Given the description of an element on the screen output the (x, y) to click on. 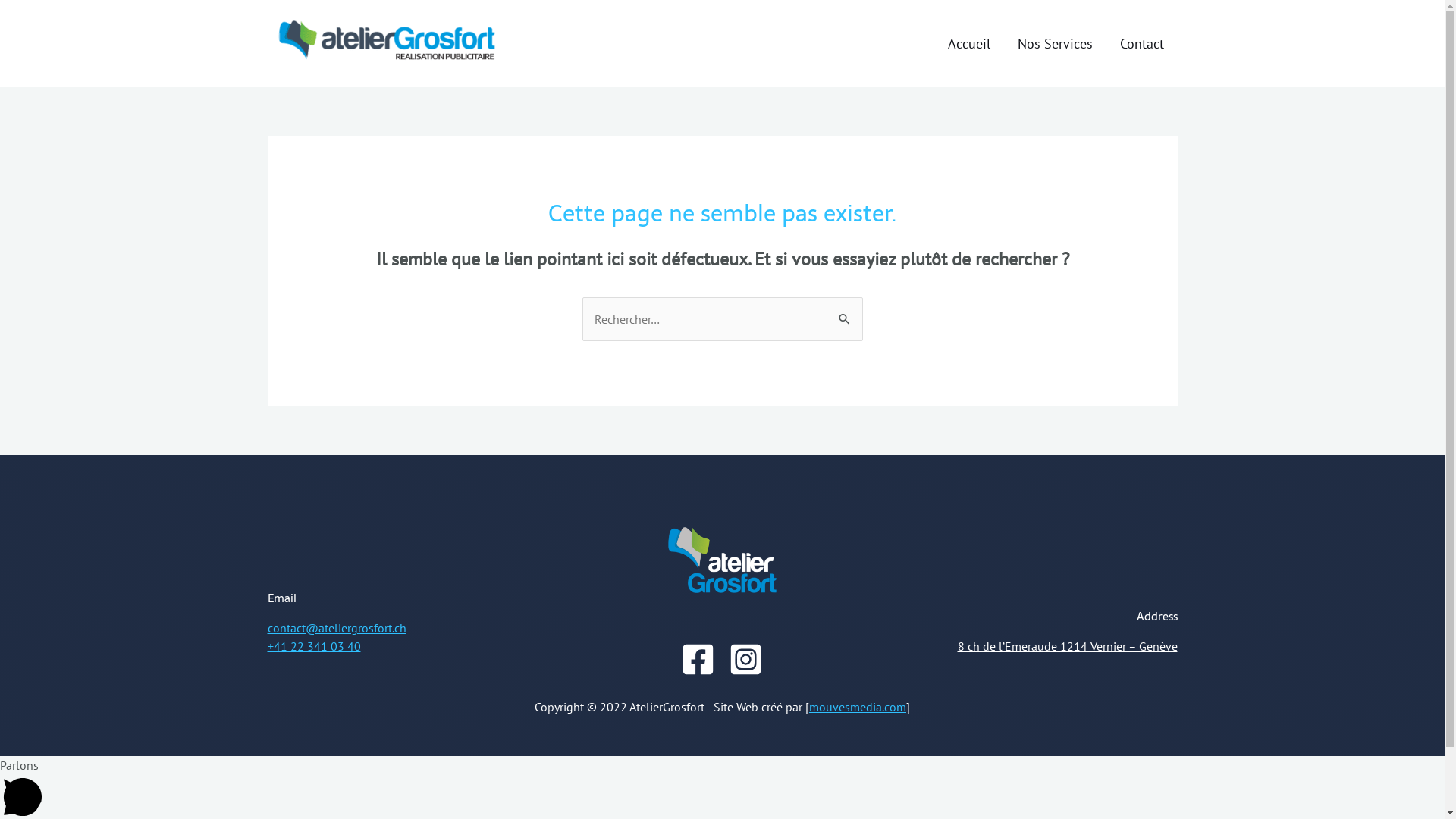
Contact Element type: text (1140, 42)
Accueil Element type: text (969, 42)
Nos Services Element type: text (1055, 42)
mouvesmedia.com Element type: text (857, 706)
Rechercher Element type: text (845, 312)
+41 22 341 03 40 Element type: text (313, 645)
contact@ateliergrosfort.ch Element type: text (335, 627)
